Given the description of an element on the screen output the (x, y) to click on. 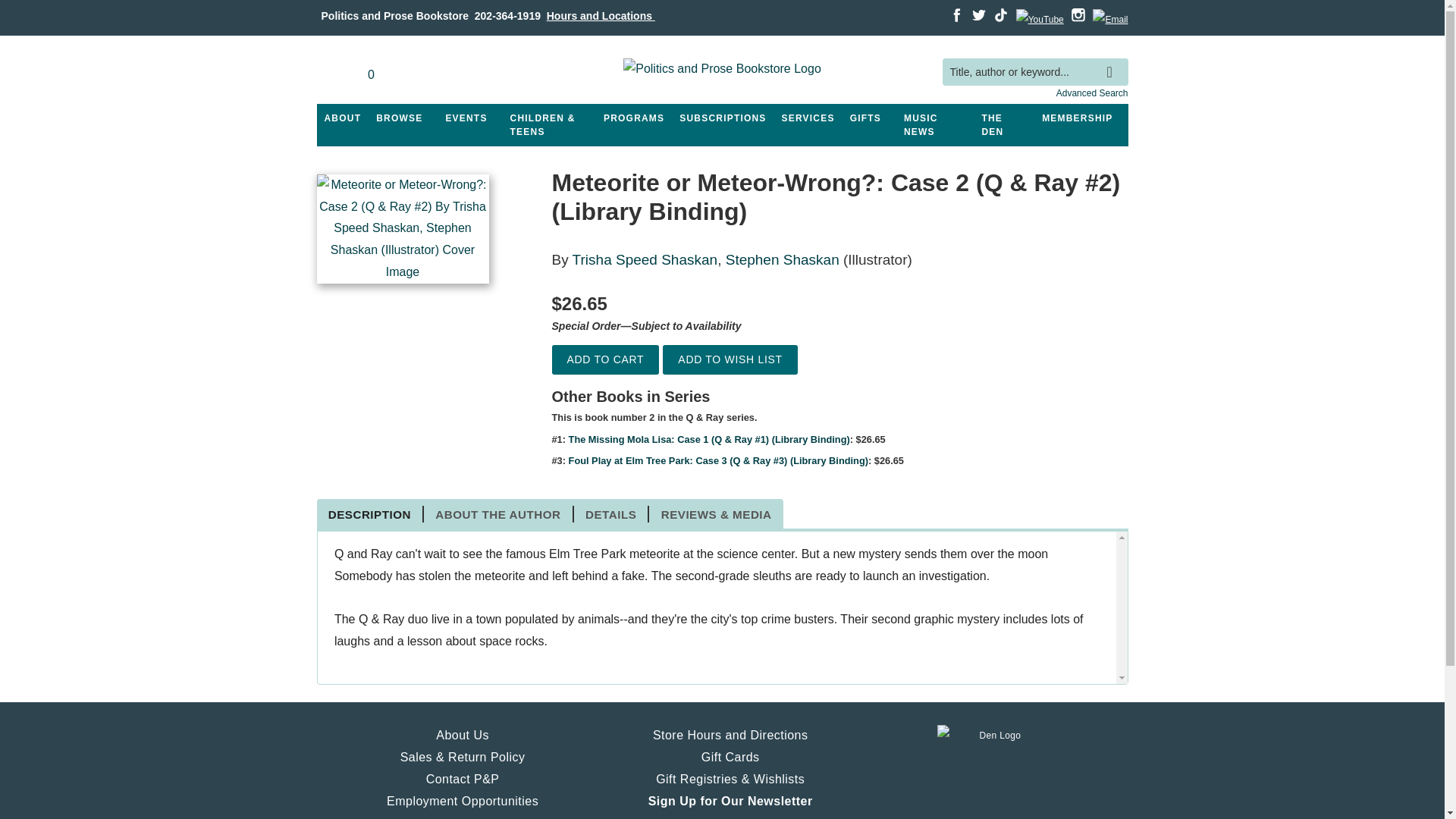
Add to Cart (605, 359)
SUBSCRIPTIONS (722, 118)
See our event calendar (465, 118)
Home (722, 71)
BROWSE (398, 118)
PROGRAMS (633, 118)
Browse our shelves (398, 118)
See information about our programs (633, 118)
Title, author or keyword... (1034, 72)
Advanced Search (1092, 92)
SERVICES (808, 118)
EVENTS (465, 118)
See our store ours and locations (601, 15)
Add to Wish List (729, 359)
